Given the description of an element on the screen output the (x, y) to click on. 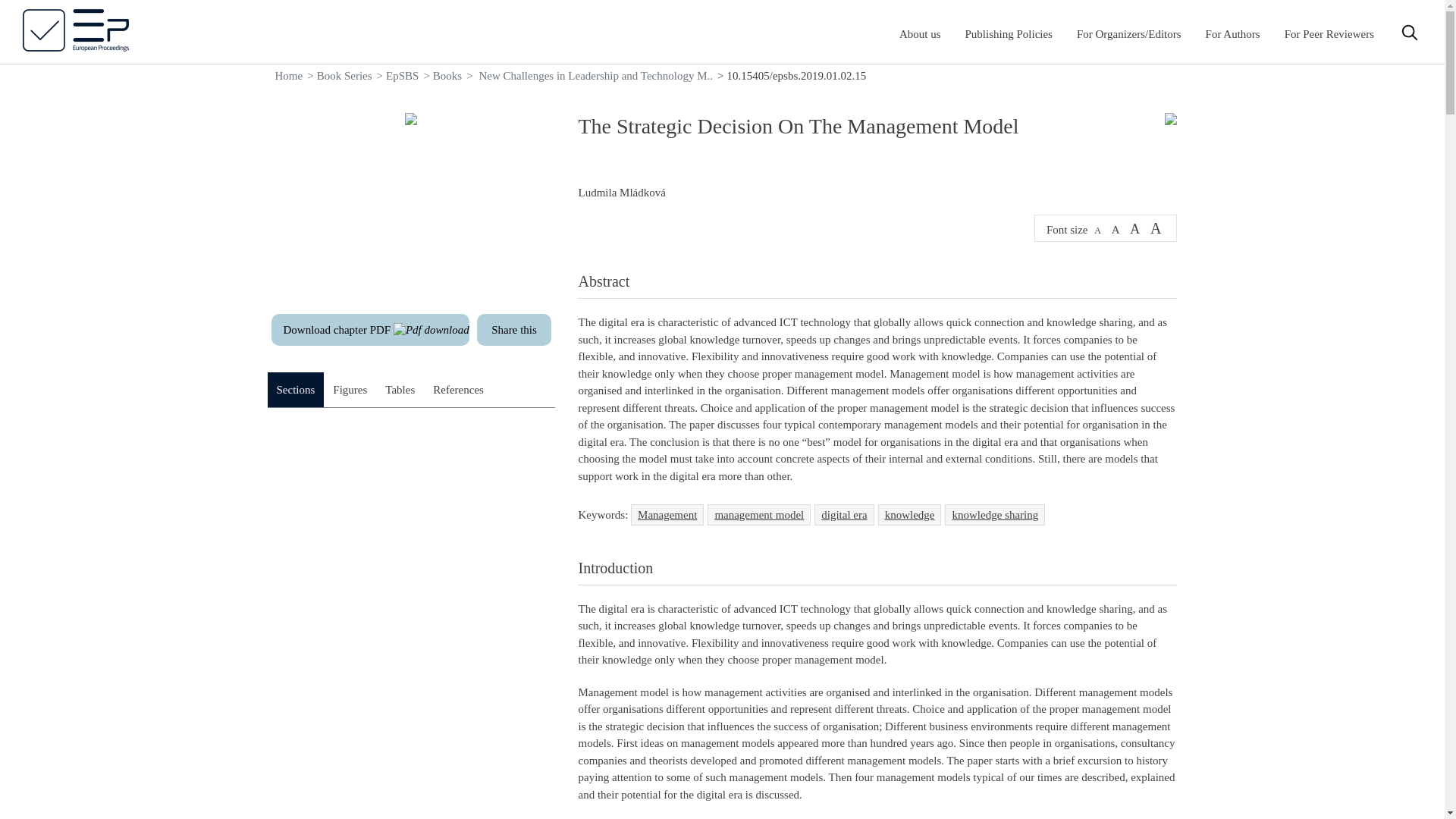
Sections (294, 389)
Tables (399, 389)
Publishing Policies (1008, 33)
About us (919, 33)
References (458, 389)
Figures (349, 389)
Books (446, 75)
New Challenges in Leadership and Technology M.. (596, 75)
Management (666, 513)
knowledge (909, 513)
Home (288, 75)
Book Series (344, 75)
knowledge sharing (994, 513)
management model (758, 513)
digital era (843, 513)
